Given the description of an element on the screen output the (x, y) to click on. 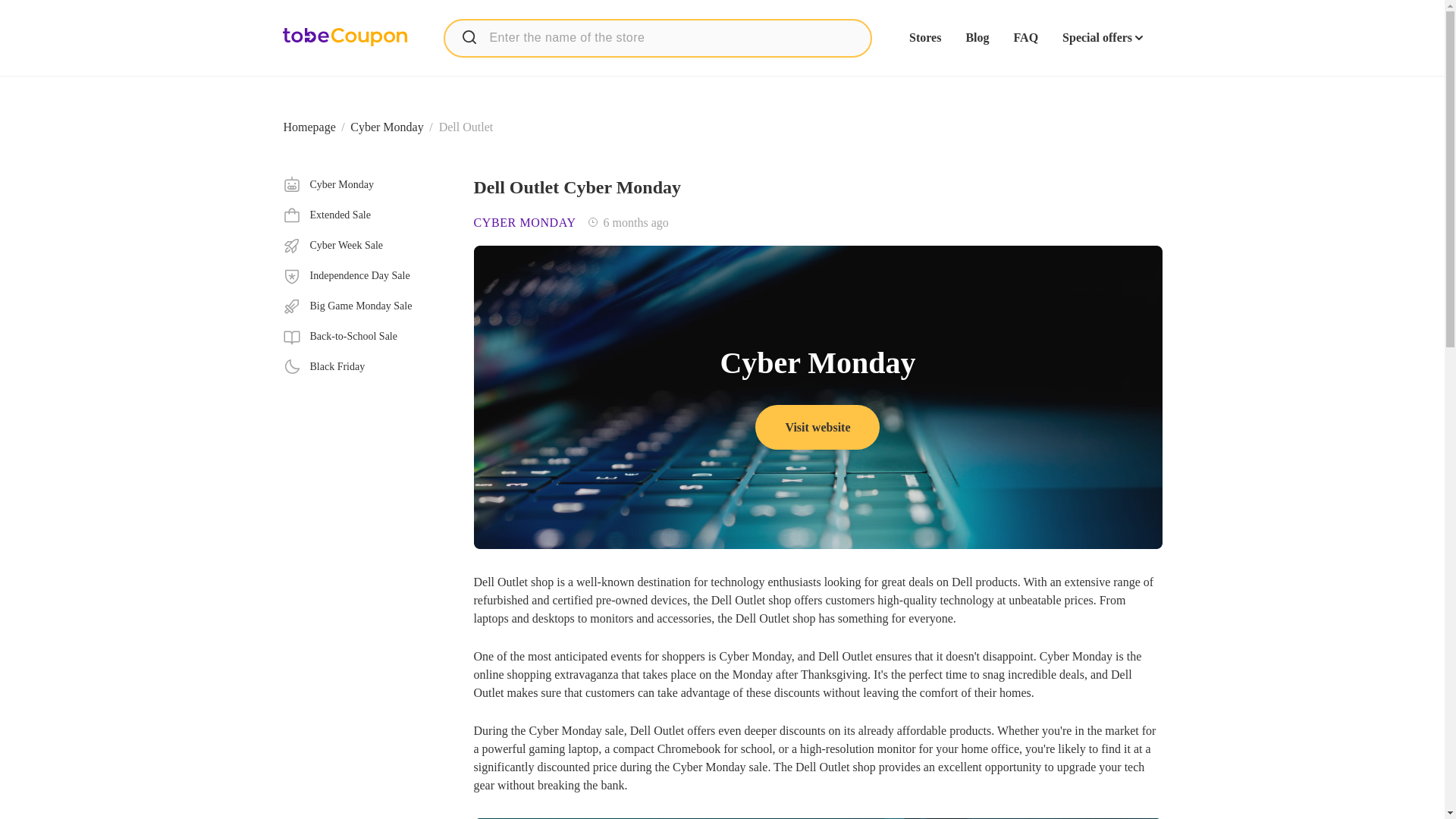
Homepage (309, 126)
FAQ (1025, 37)
Back-to-School Sale (365, 336)
Search (469, 37)
Cyber Monday (365, 185)
Cyber Monday (365, 245)
Extended Sale (386, 126)
Visit website (365, 215)
